Given the description of an element on the screen output the (x, y) to click on. 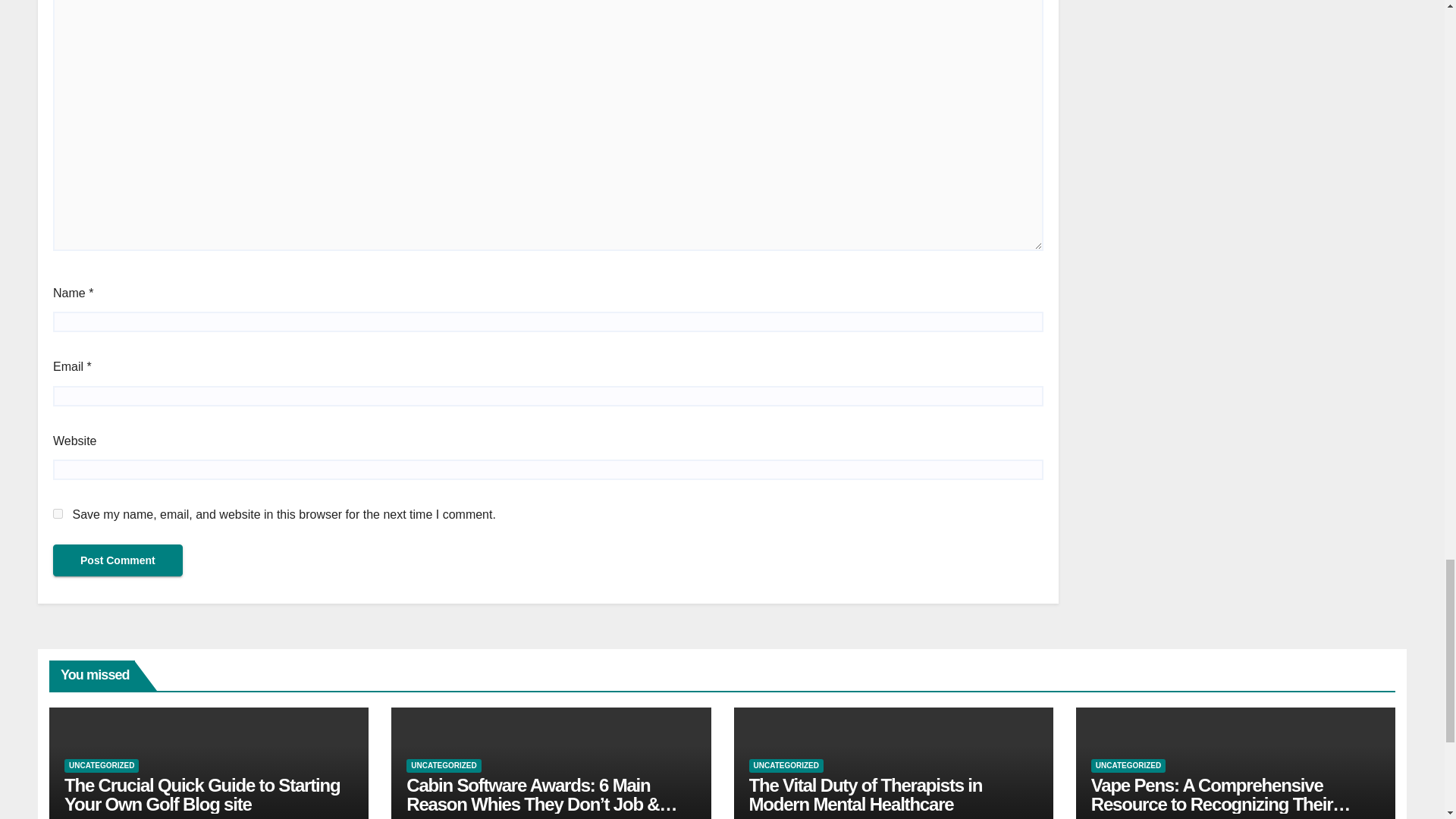
Post Comment (117, 560)
Post Comment (117, 560)
yes (57, 513)
